Given the description of an element on the screen output the (x, y) to click on. 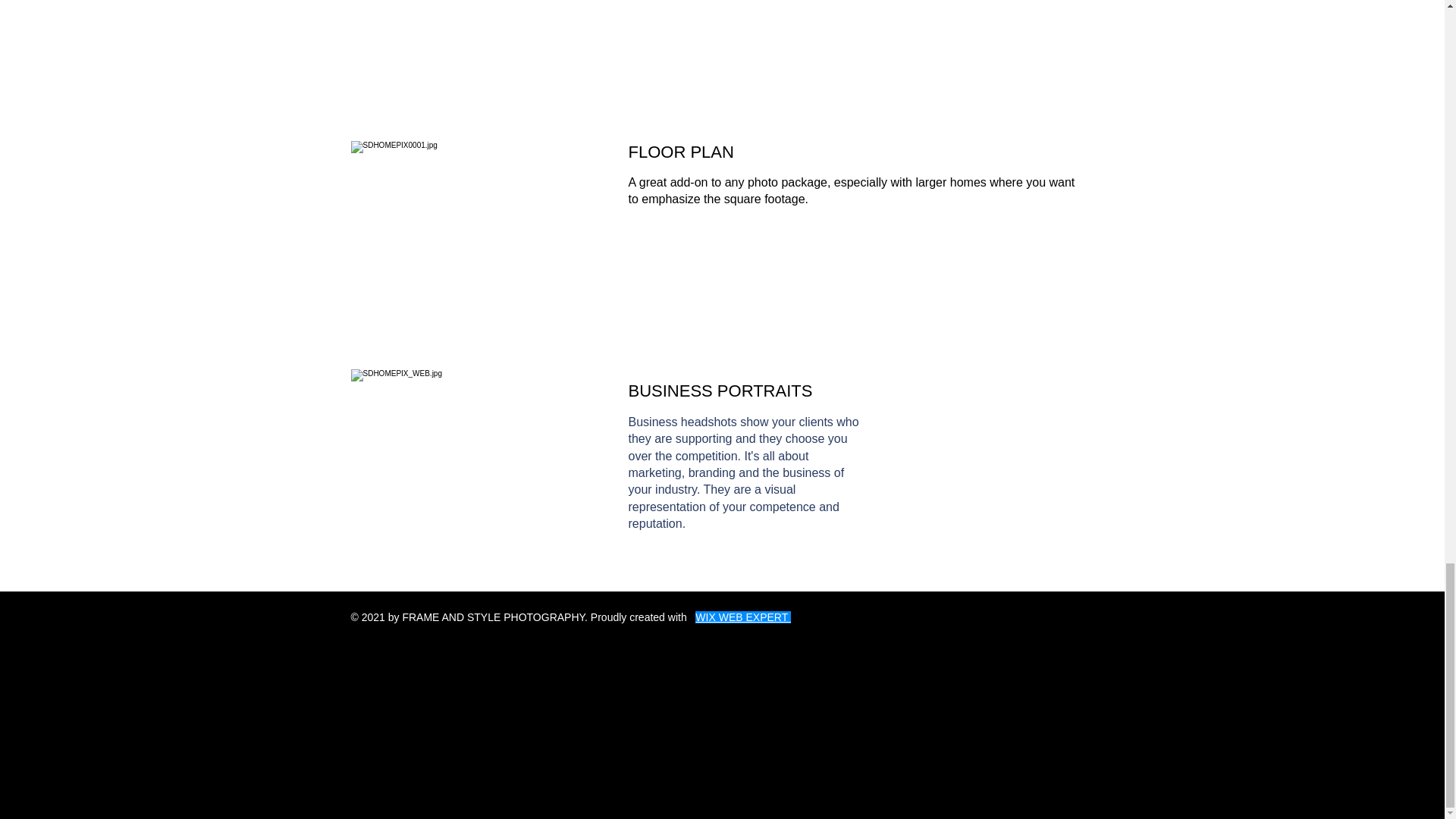
WIX WEB EXPERT  (742, 616)
